Given the description of an element on the screen output the (x, y) to click on. 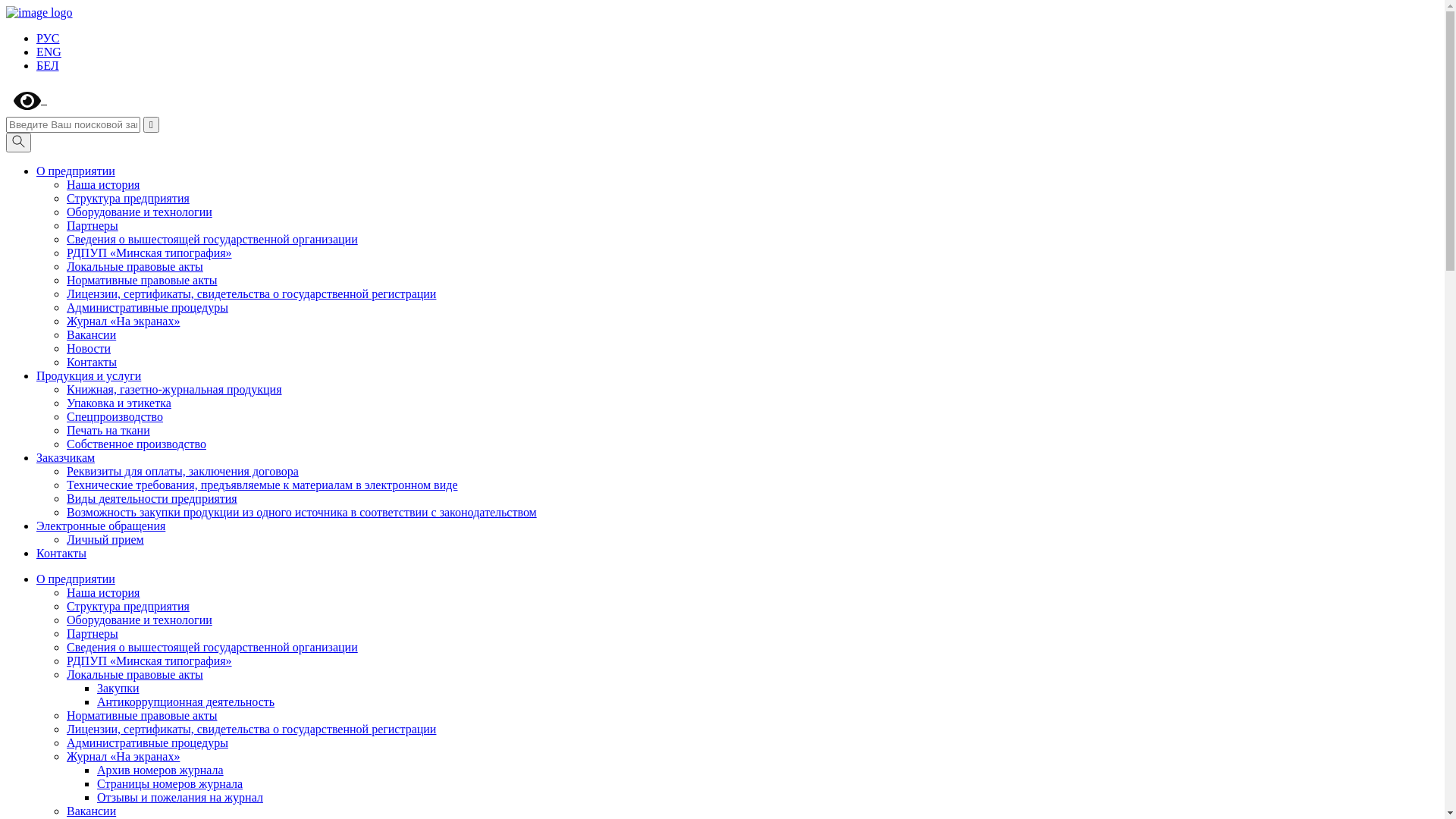
ENG Element type: text (48, 51)
